Given the description of an element on the screen output the (x, y) to click on. 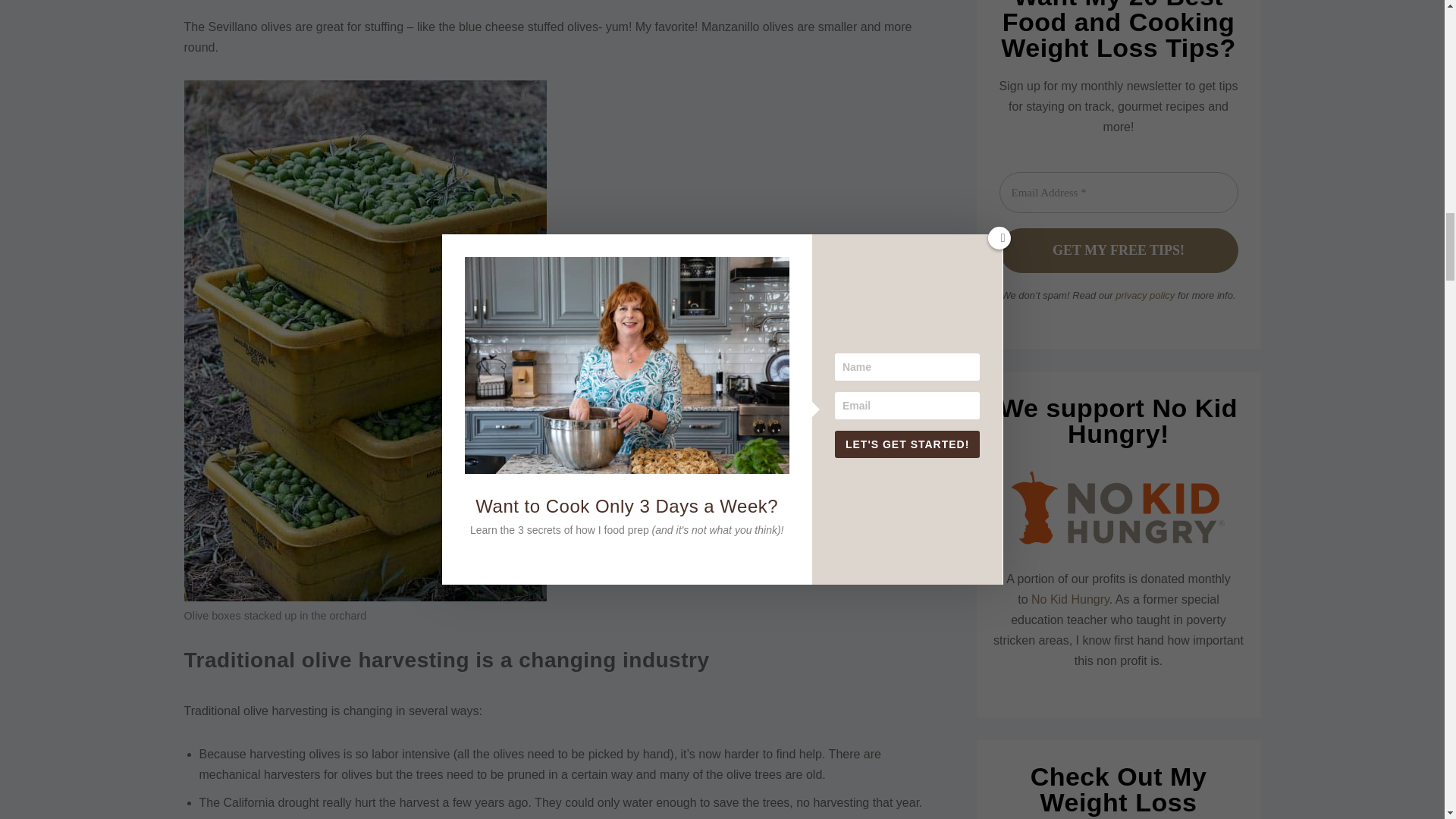
Email Address (1118, 192)
GET MY FREE TIPS! (1118, 250)
